Given the description of an element on the screen output the (x, y) to click on. 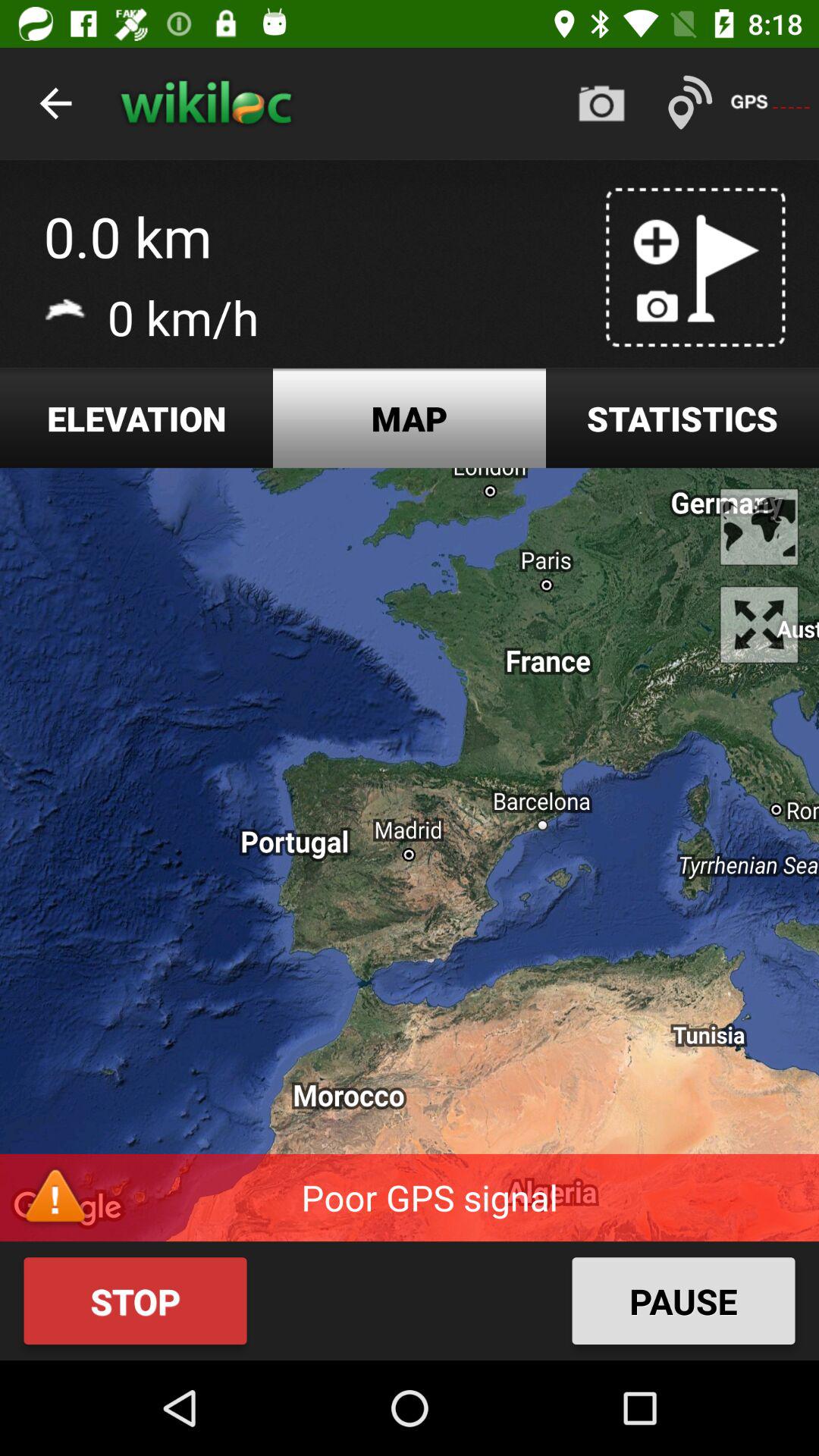
launch the pause (683, 1300)
